Given the description of an element on the screen output the (x, y) to click on. 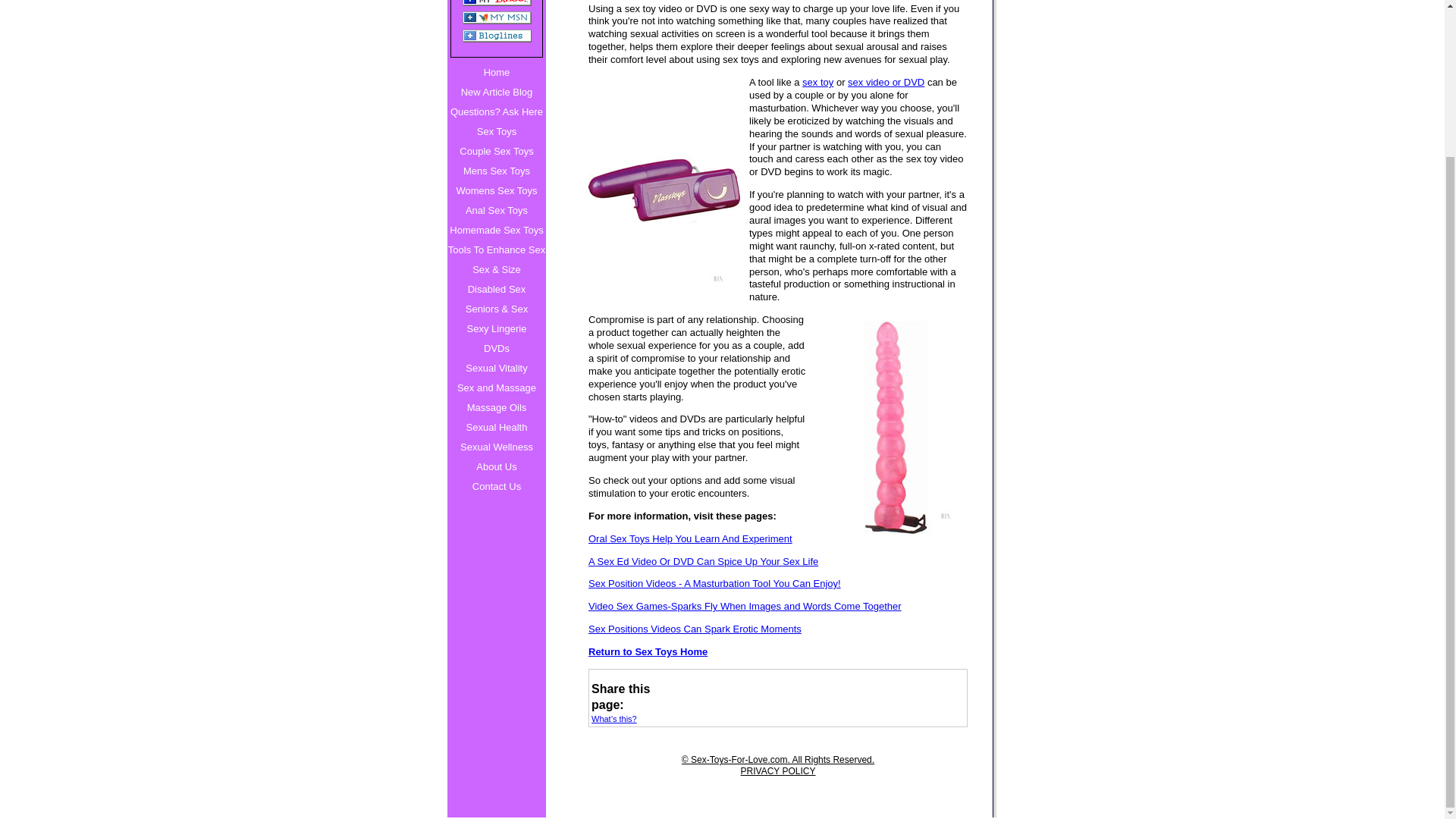
Contact Us (496, 486)
Sexual Health (496, 427)
sex video or DVD (885, 81)
Anal Sex Toys (496, 210)
Home (496, 72)
Questions? Ask Here (496, 112)
Womens Sex Toys (496, 190)
Sexy Lingerie (496, 329)
Tools To Enhance Sex (496, 250)
Sex Positions Videos Can Spark Erotic Moments (778, 629)
Mens Sex Toys (496, 170)
New Article Blog (496, 92)
Sex and Massage (496, 388)
Massage Oils (496, 407)
Couple Sex Toys (496, 151)
